Given the description of an element on the screen output the (x, y) to click on. 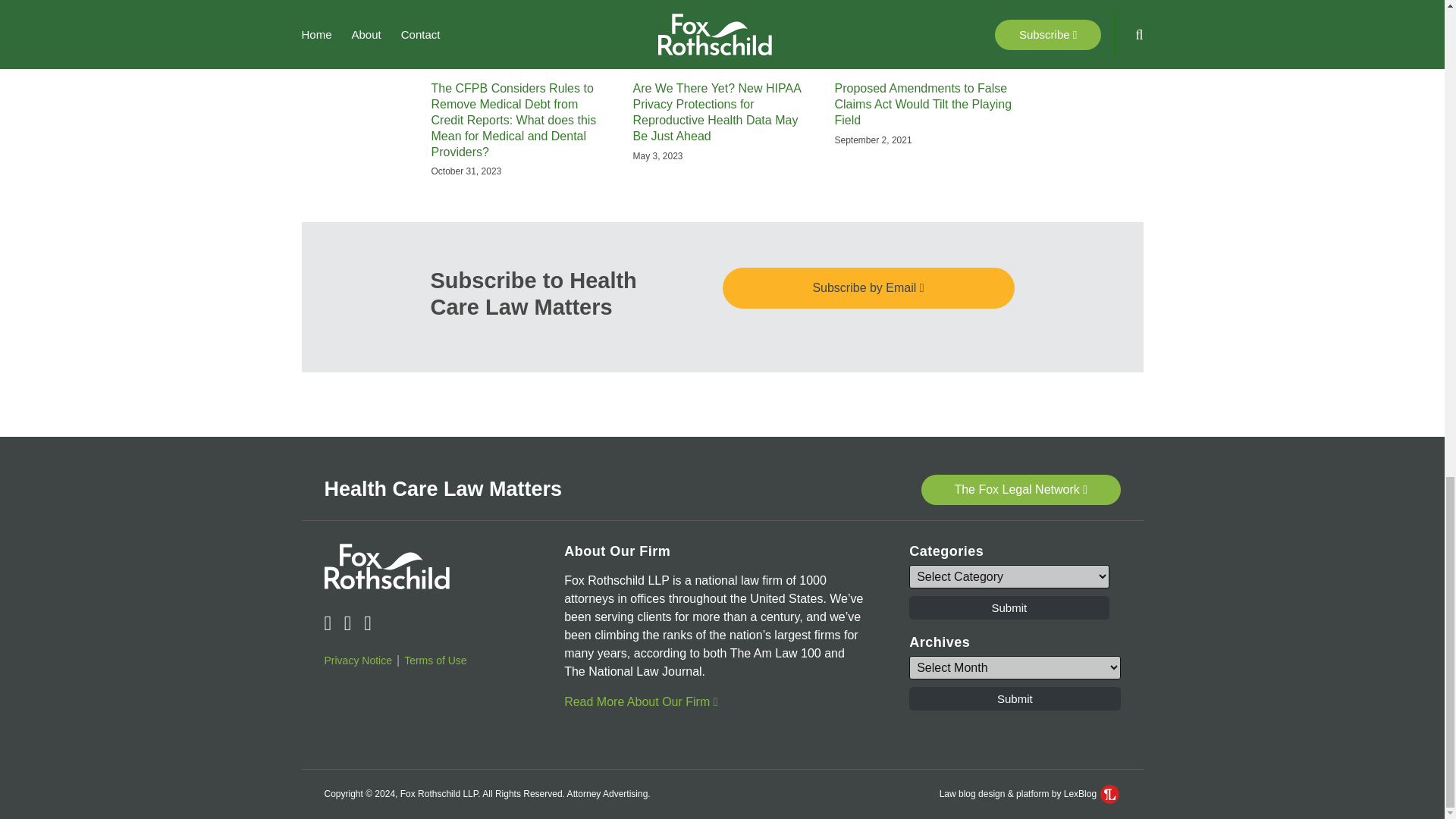
LexBlog Logo (1109, 793)
Privacy Notice (357, 660)
Submit (1013, 698)
Subscribe by Email (867, 287)
Read More About Our Firm (640, 701)
The Fox Legal Network (1021, 490)
Terms of Use (434, 660)
Submit (1008, 607)
